Given the description of an element on the screen output the (x, y) to click on. 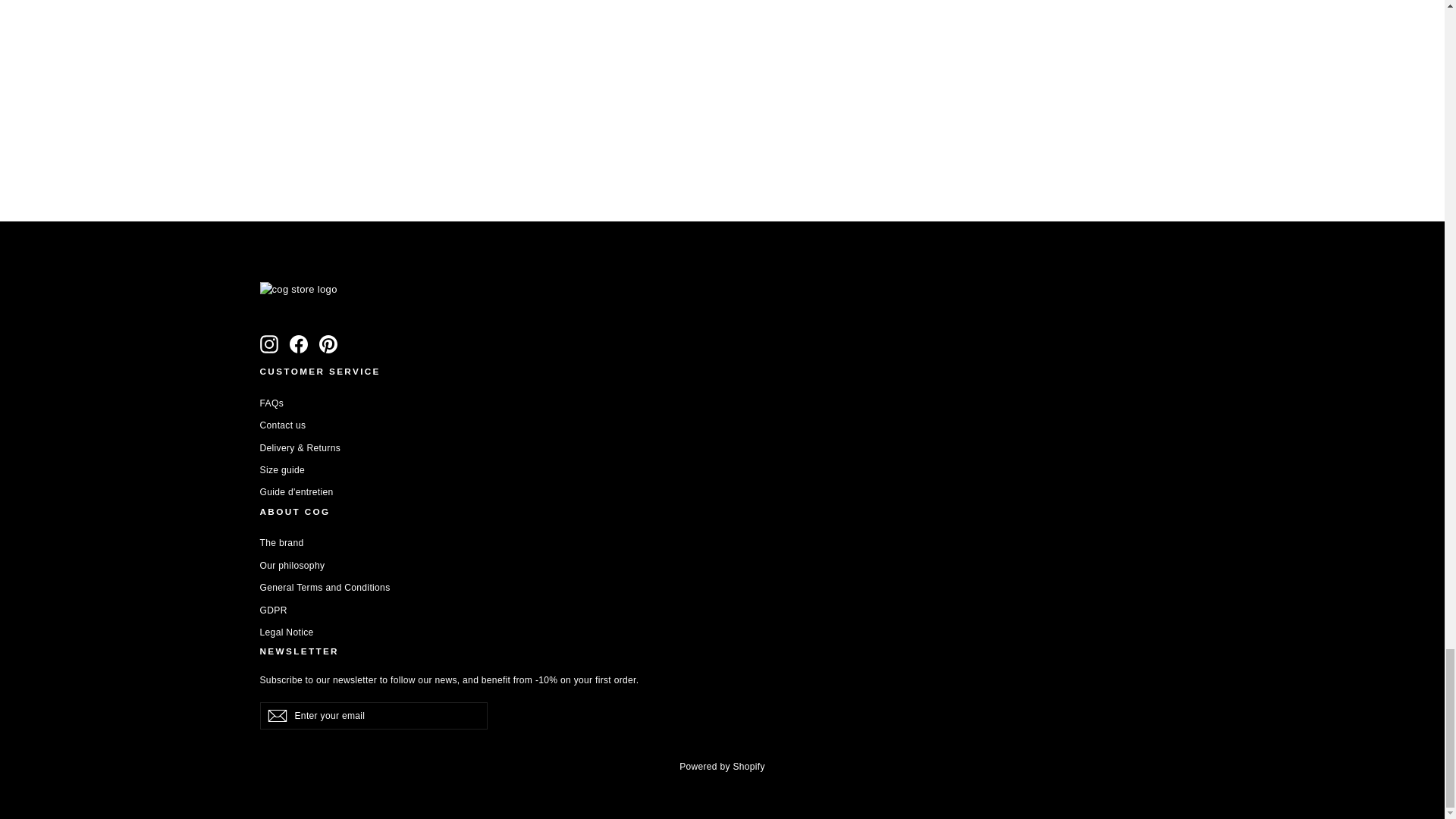
COG Store on Instagram (268, 343)
COG Store on Pinterest (327, 343)
COG Store on Facebook (298, 343)
